Given the description of an element on the screen output the (x, y) to click on. 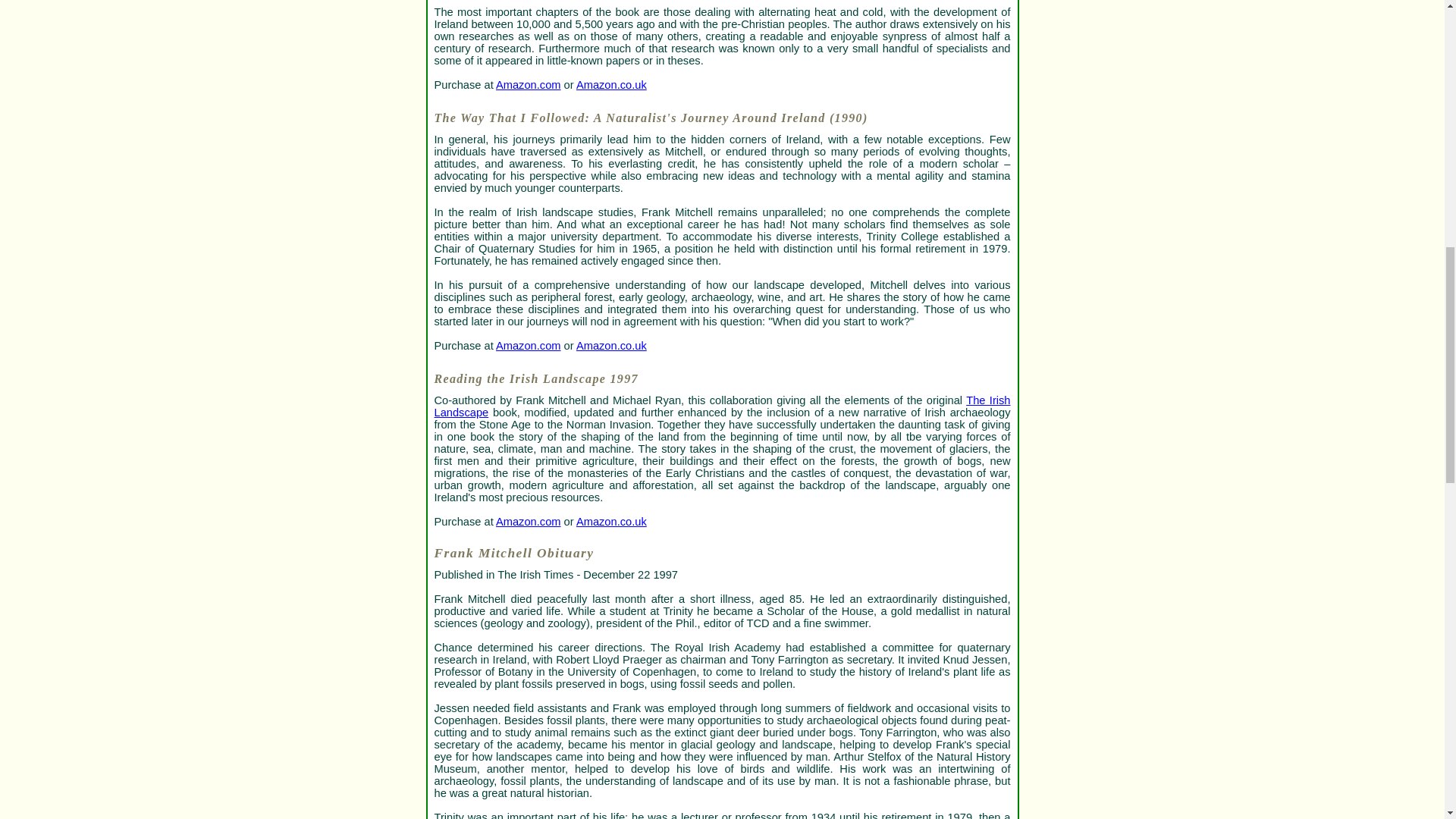
Amazon.com (528, 521)
Amazon.co.uk (611, 521)
Amazon.co.uk (611, 345)
Amazon.com (528, 345)
The Irish Landscape (721, 405)
Amazon.com (528, 84)
Amazon.co.uk (611, 84)
